Given the description of an element on the screen output the (x, y) to click on. 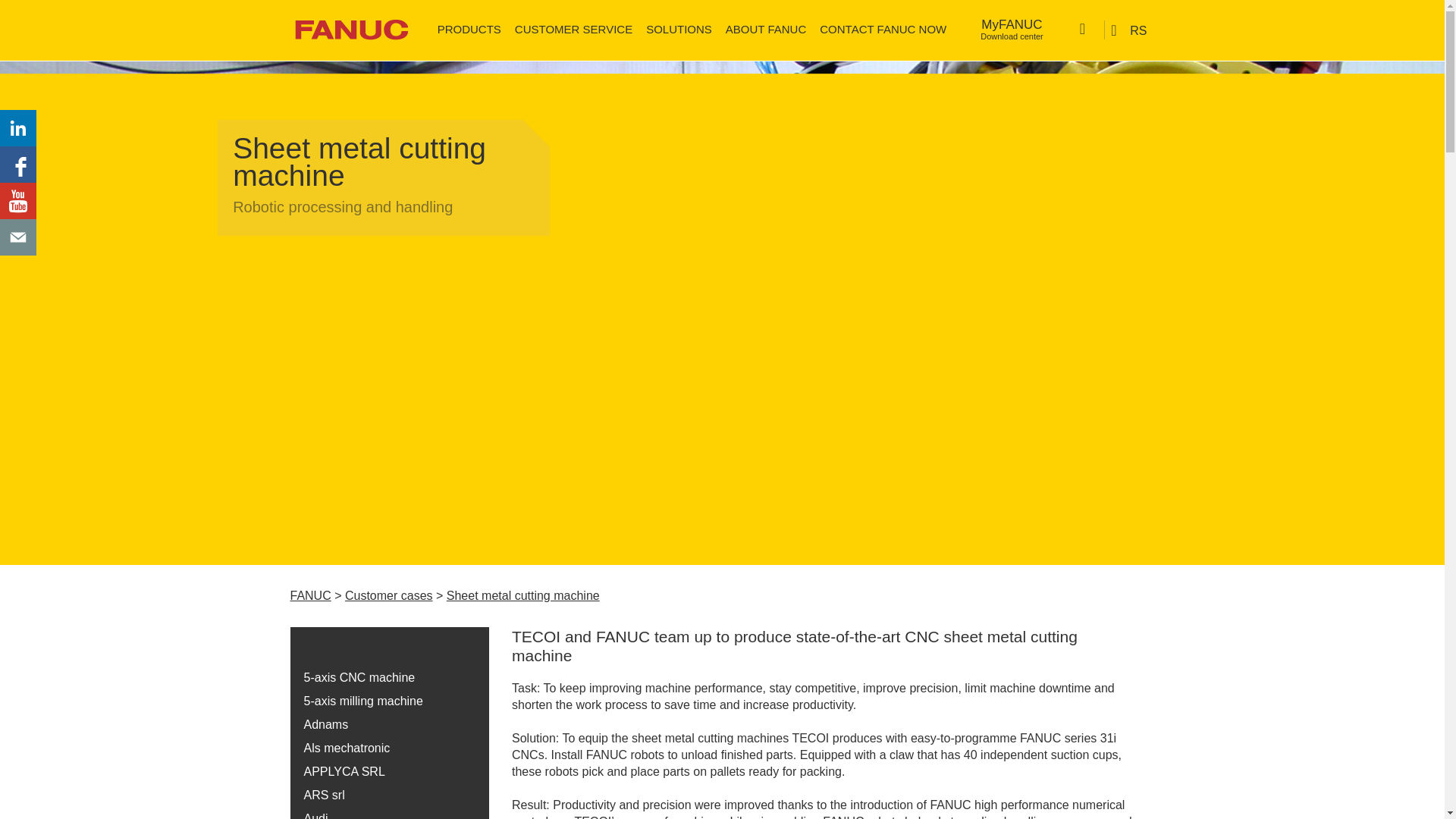
fanuc (349, 29)
ABOUT FANUC (765, 29)
CONTACT FANUC NOW (882, 29)
RS (1129, 29)
PRODUCTS (1011, 29)
SOLUTIONS (469, 29)
CUSTOMER SERVICE (678, 29)
